Given the description of an element on the screen output the (x, y) to click on. 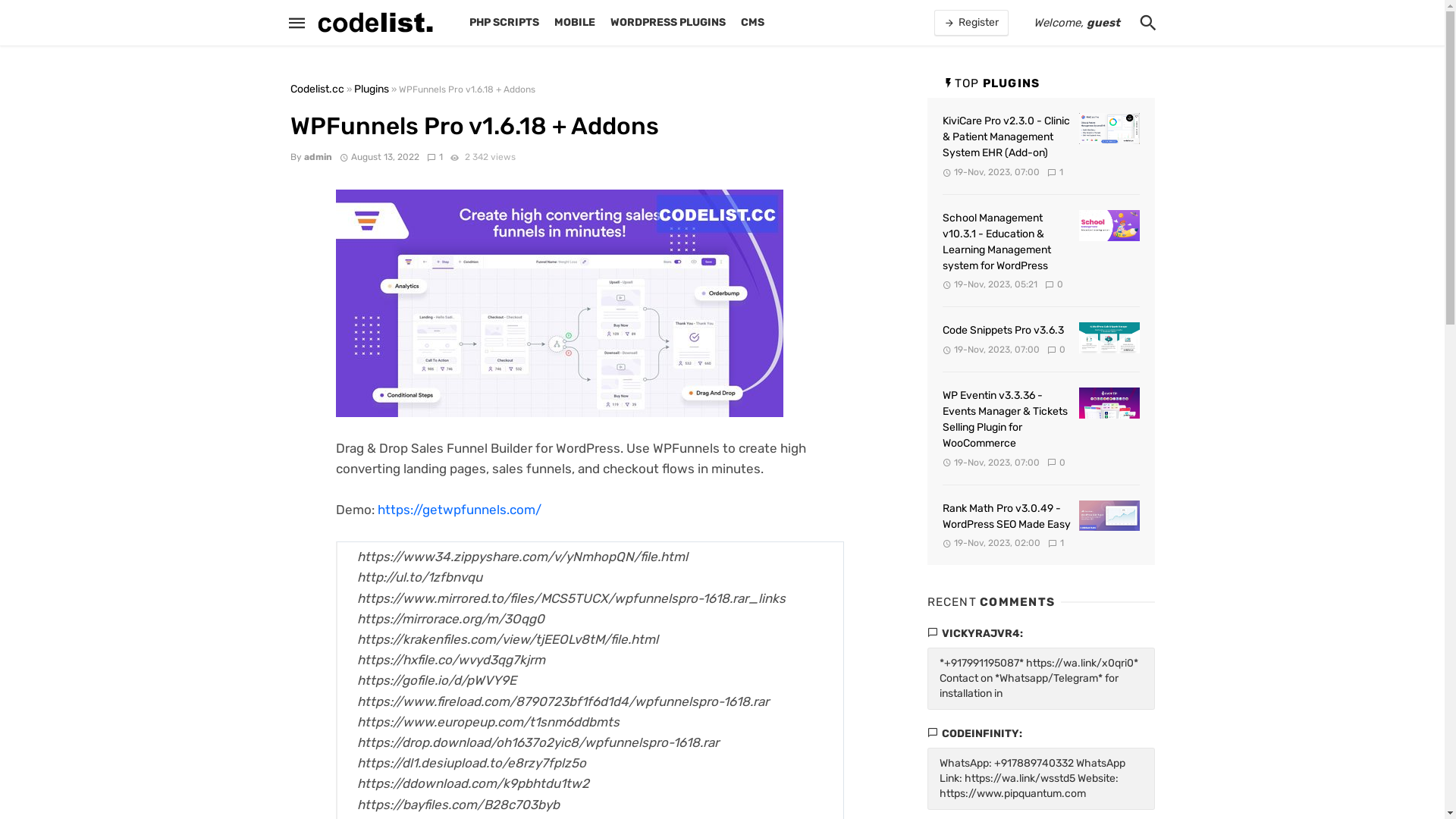
1 Element type: text (1055, 542)
VICKYRAJVR4 Element type: text (980, 633)
Plugins Element type: text (370, 88)
PHP SCRIPTS Element type: text (503, 22)
Register Element type: text (971, 22)
0 Element type: text (1056, 349)
Code Snippets Pro v3.6.3 Element type: text (1002, 329)
https://getwpfunnels.com/ Element type: text (459, 509)
CMS Element type: text (752, 22)
19-Nov, 2023, 02:00 Element type: text (990, 542)
19-Nov, 2023, 07:00 Element type: text (990, 462)
August 13, 2022 Element type: text (379, 156)
Codelist.cc Element type: text (316, 88)
1 Element type: text (434, 156)
Welcome, guest Element type: text (1075, 22)
19-Nov, 2023, 05:21 Element type: text (989, 284)
19-Nov, 2023, 07:00 Element type: text (990, 349)
Rank Math Pro v3.0.49 - WordPress SEO Made Easy Element type: text (1005, 516)
Rank Math Pro v3.0.49 - WordPress SEO Made Easy Element type: hover (1108, 515)
19-Nov, 2023, 07:00 Element type: text (990, 171)
WORDPRESS PLUGINS Element type: text (667, 22)
1 Element type: text (1055, 171)
0 Element type: text (1056, 462)
CODEINFINITY Element type: text (980, 733)
MOBILE Element type: text (574, 22)
0 Element type: text (1053, 284)
By admin Element type: text (310, 156)
Code Snippets Pro v3.6.3 Element type: hover (1108, 337)
